Given the description of an element on the screen output the (x, y) to click on. 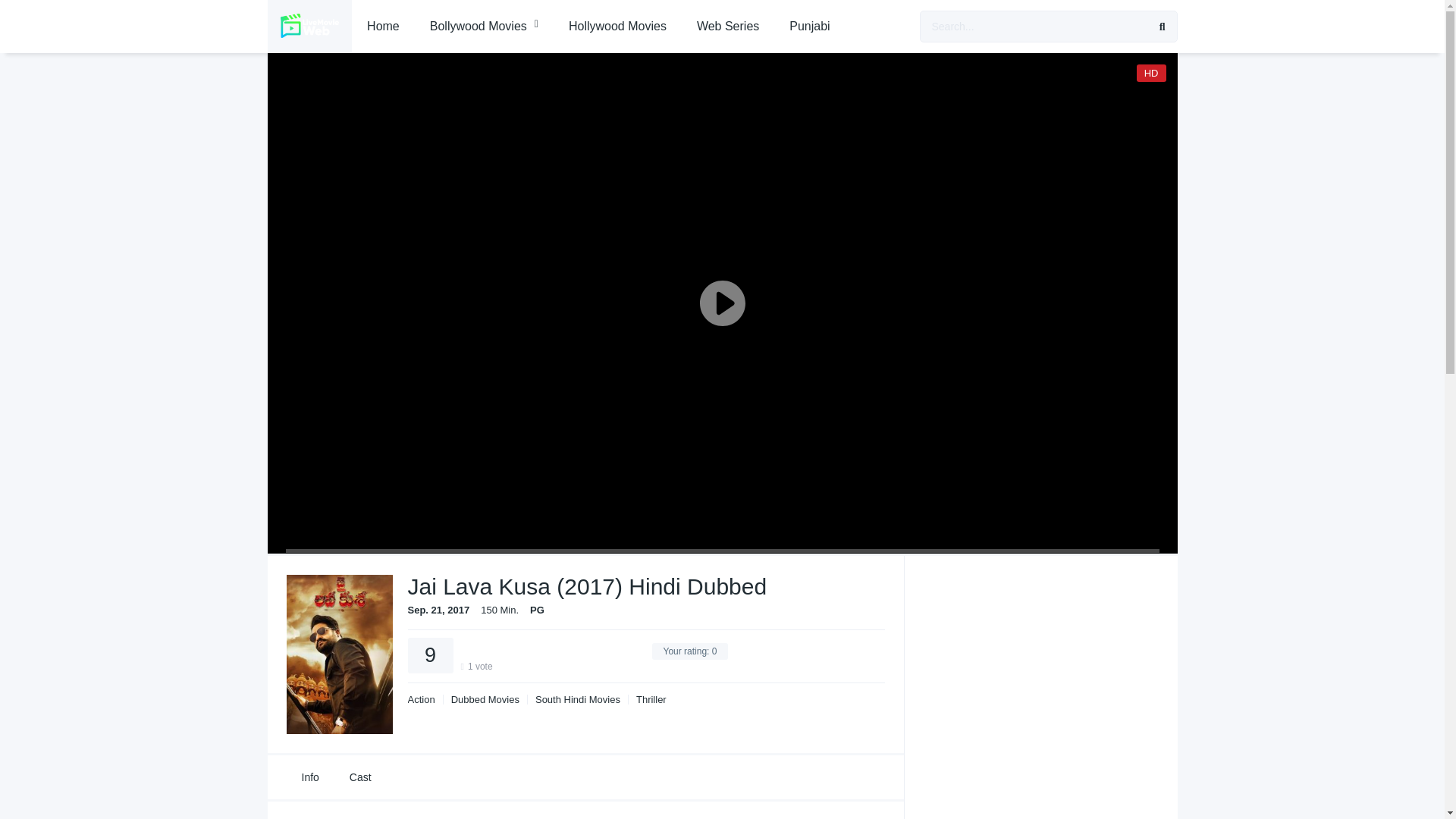
Bollywood Movies (483, 26)
South Hindi Movies (577, 699)
Cast (360, 777)
Action (424, 699)
Home (383, 26)
Thriller (650, 699)
Dubbed Movies (484, 699)
Punjabi (809, 26)
Web Series (727, 26)
Info (310, 777)
Hollywood Movies (617, 26)
